Given the description of an element on the screen output the (x, y) to click on. 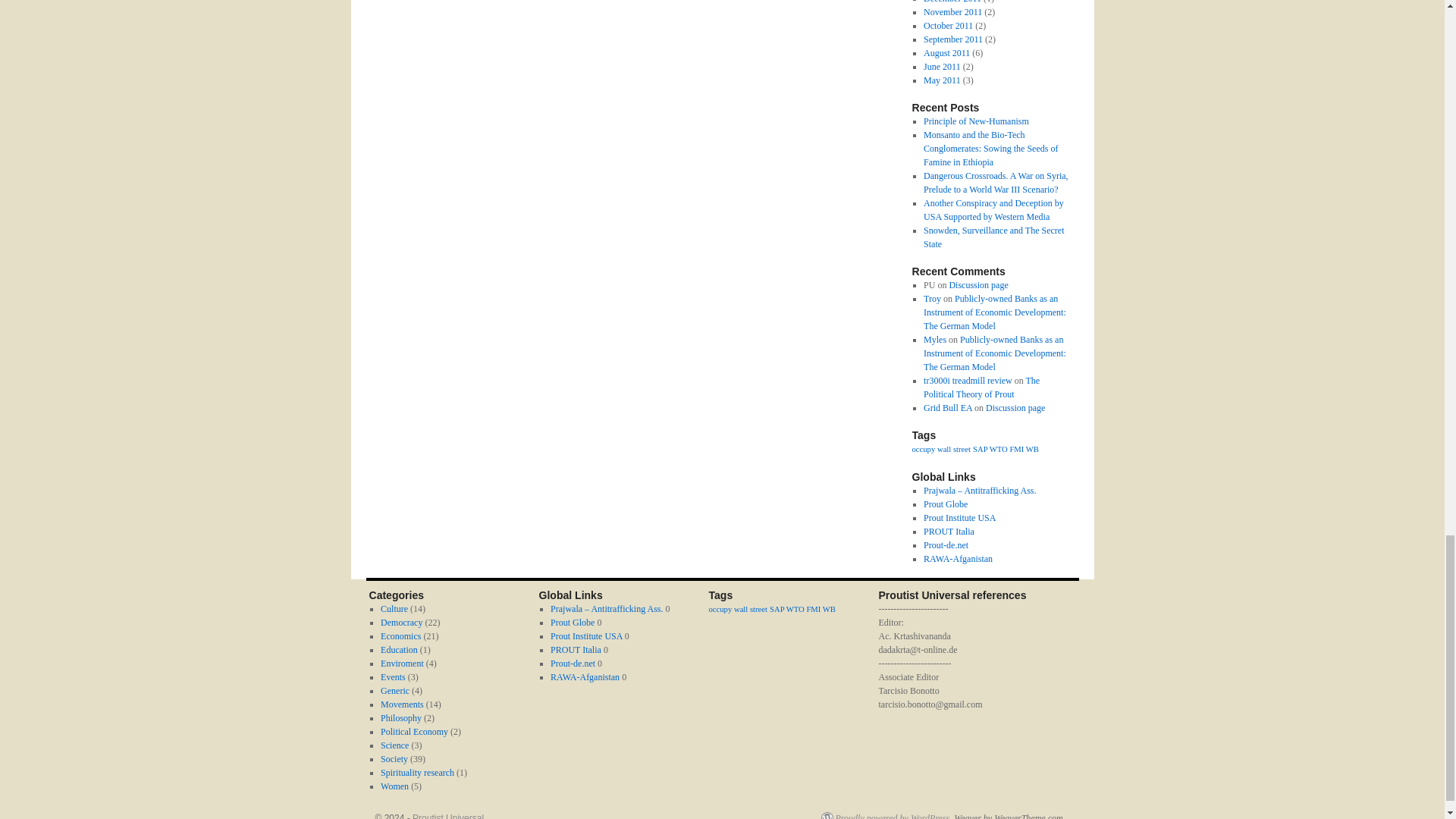
Italian Prout Website (948, 531)
Antitrafficking Indian Association (979, 490)
PROUT Globe writers and research cooperative. (945, 503)
Antitrafficking Indian Association (606, 608)
